Given the description of an element on the screen output the (x, y) to click on. 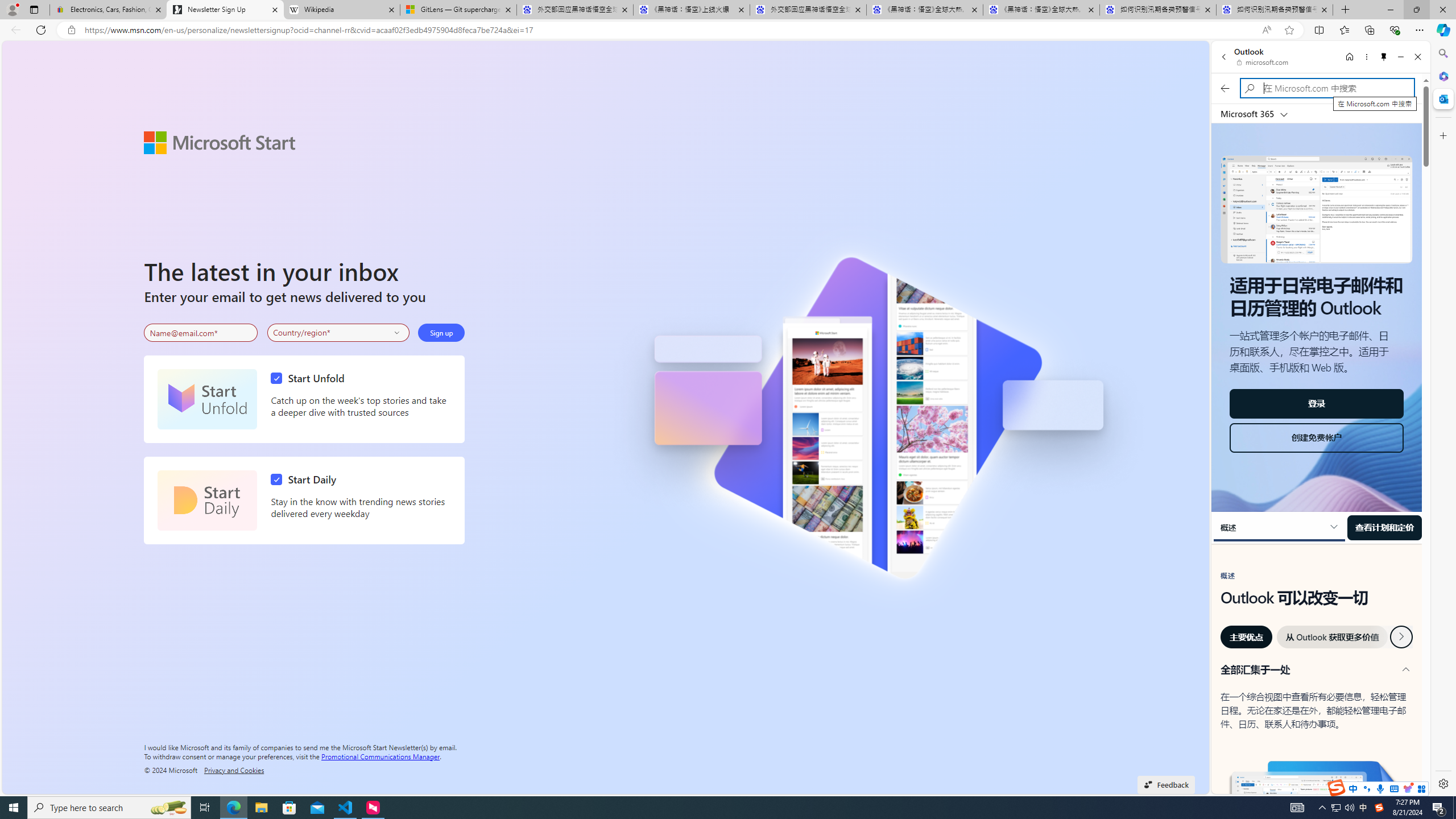
Sign up (441, 332)
Start Daily (207, 500)
Enter your email (200, 332)
Start Unfold (207, 399)
Promotional Communications Manager (380, 755)
